Given the description of an element on the screen output the (x, y) to click on. 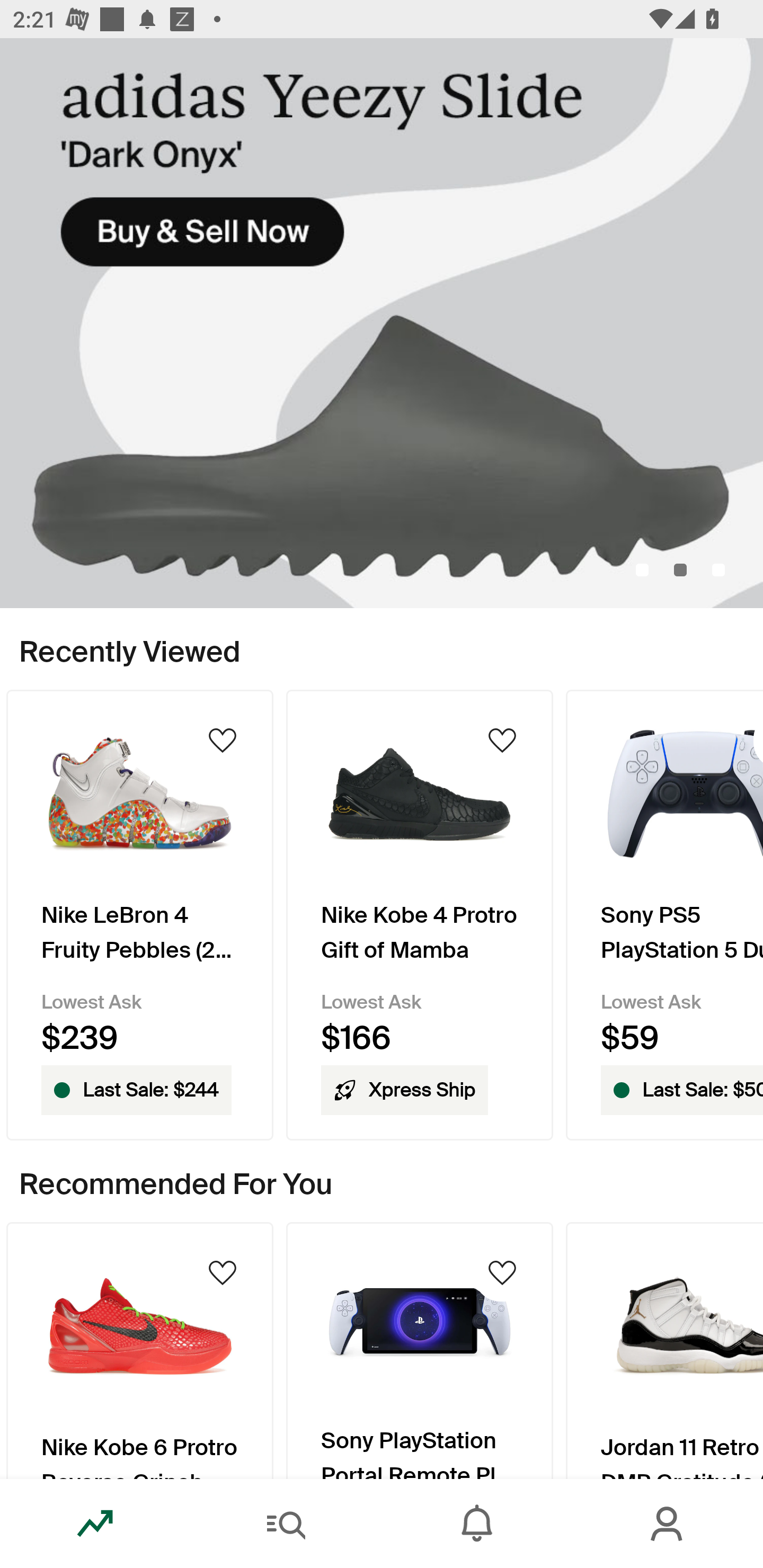
Product Image Nike Kobe 6 Protro Reverse Grinch (139, 1349)
Search (285, 1523)
Inbox (476, 1523)
Account (667, 1523)
